Given the description of an element on the screen output the (x, y) to click on. 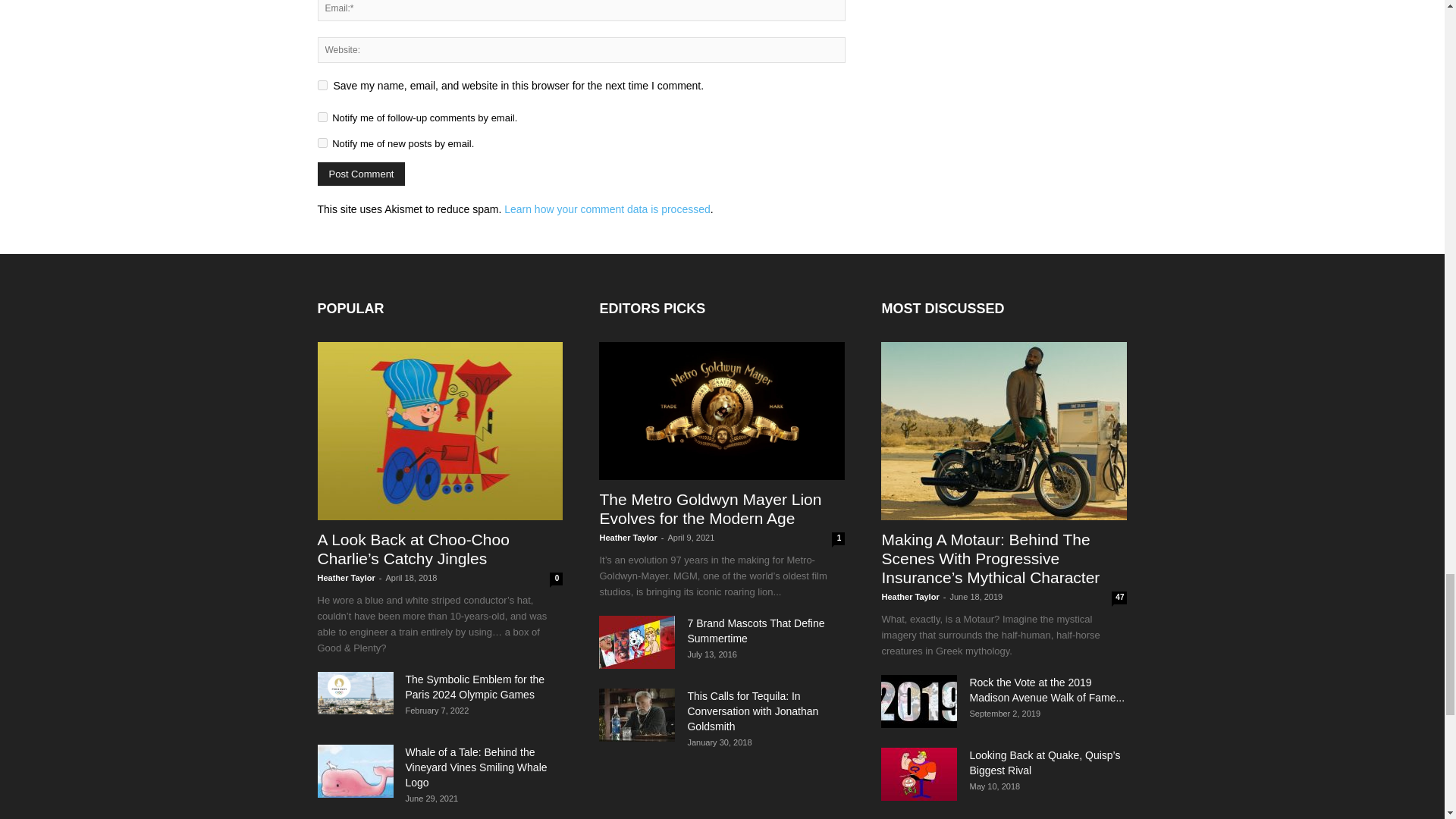
Post Comment (360, 173)
yes (321, 85)
subscribe (321, 143)
subscribe (321, 117)
